Given the description of an element on the screen output the (x, y) to click on. 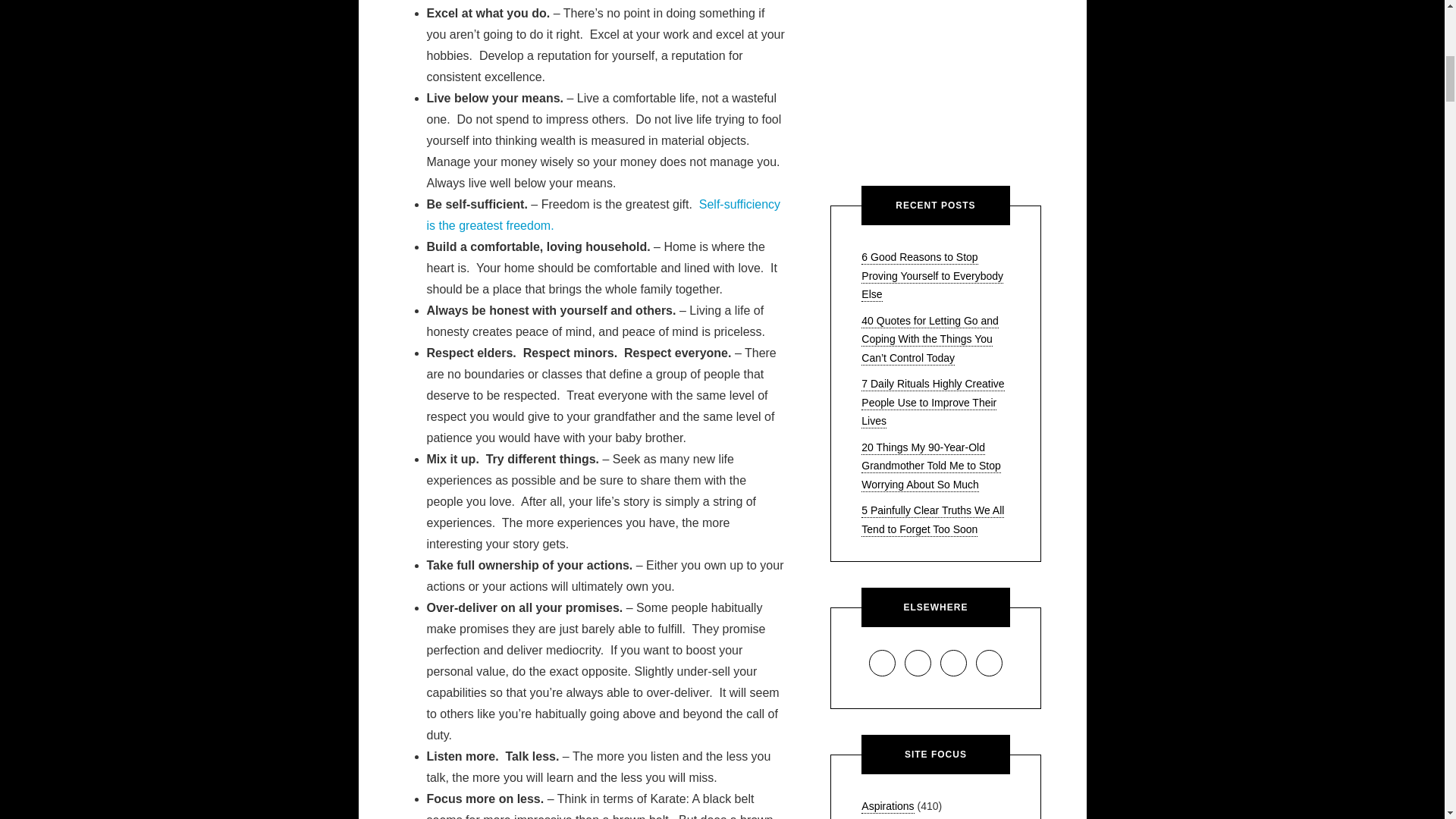
Twitter (989, 663)
Pinterest (953, 663)
Instagram (917, 663)
Self-sufficiency is the greatest freedom. (603, 214)
Facebook (881, 663)
